Given the description of an element on the screen output the (x, y) to click on. 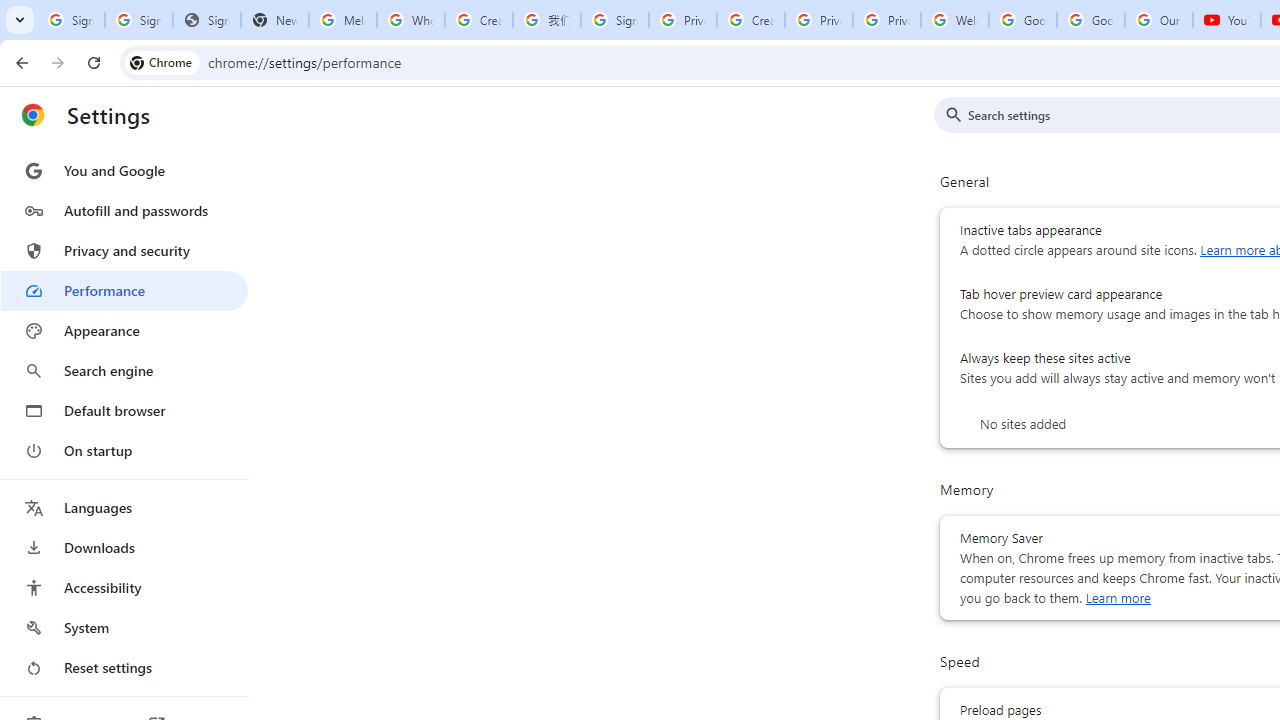
Privacy and security (124, 250)
Performance (124, 290)
Autofill and passwords (124, 210)
Sign in - Google Accounts (614, 20)
Create your Google Account (479, 20)
